Given the description of an element on the screen output the (x, y) to click on. 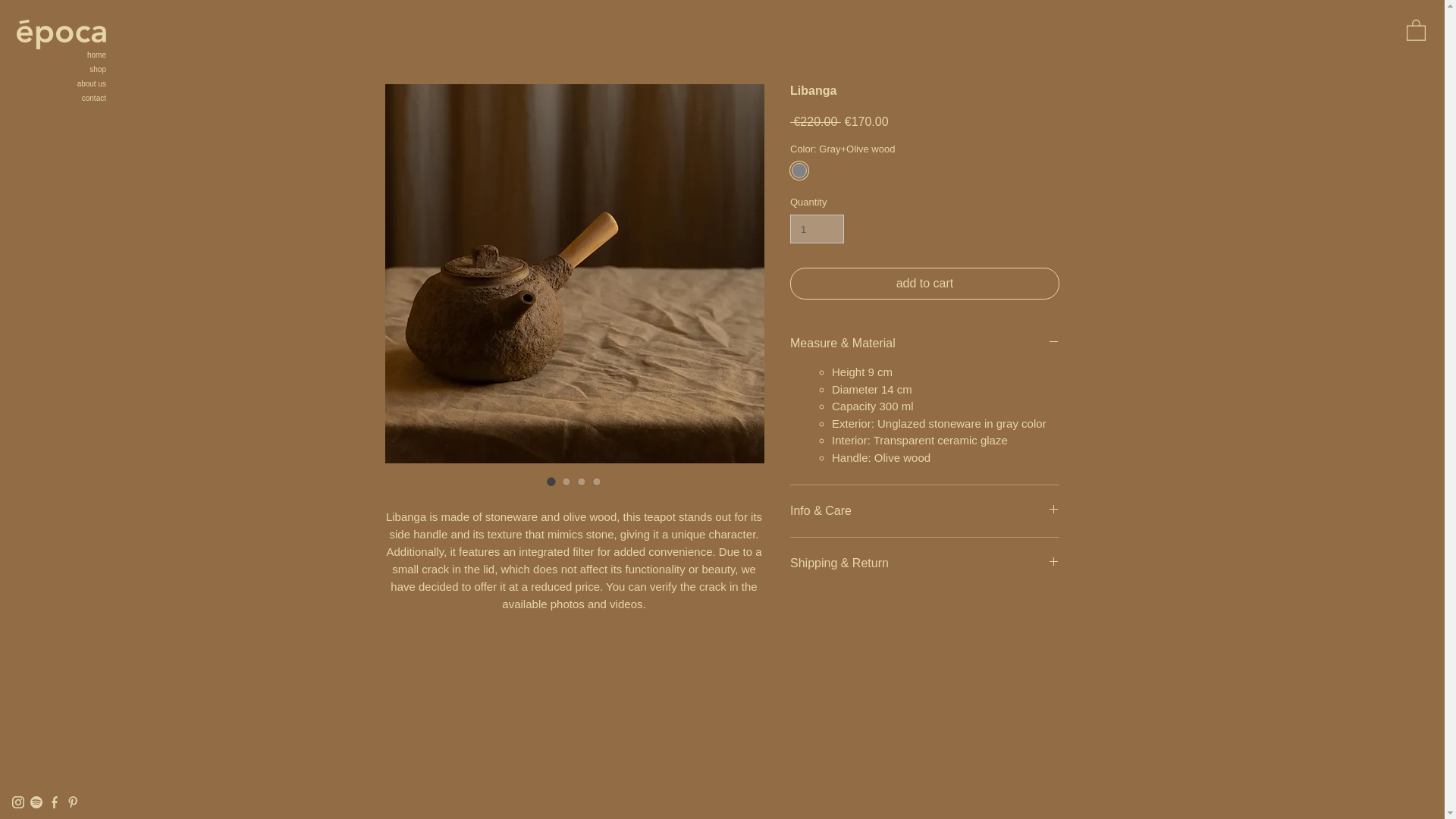
home (64, 54)
contact (64, 97)
shop (64, 69)
about us (64, 83)
1 (817, 228)
add to cart (924, 283)
